Given the description of an element on the screen output the (x, y) to click on. 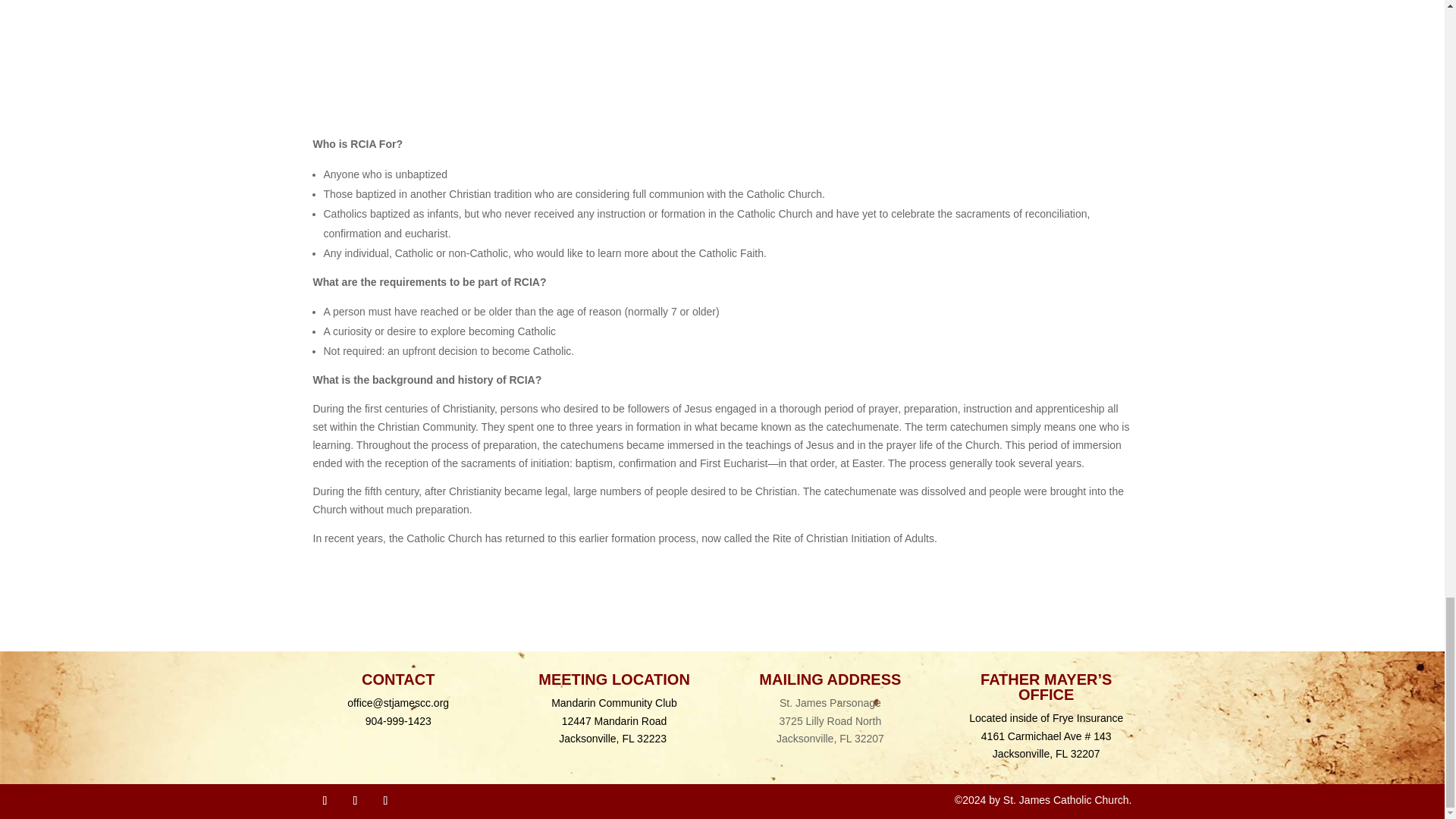
YouTube video player (722, 47)
Follow on Facebook (324, 800)
Follow on Youtube (354, 800)
Follow on Instagram (384, 800)
